Given the description of an element on the screen output the (x, y) to click on. 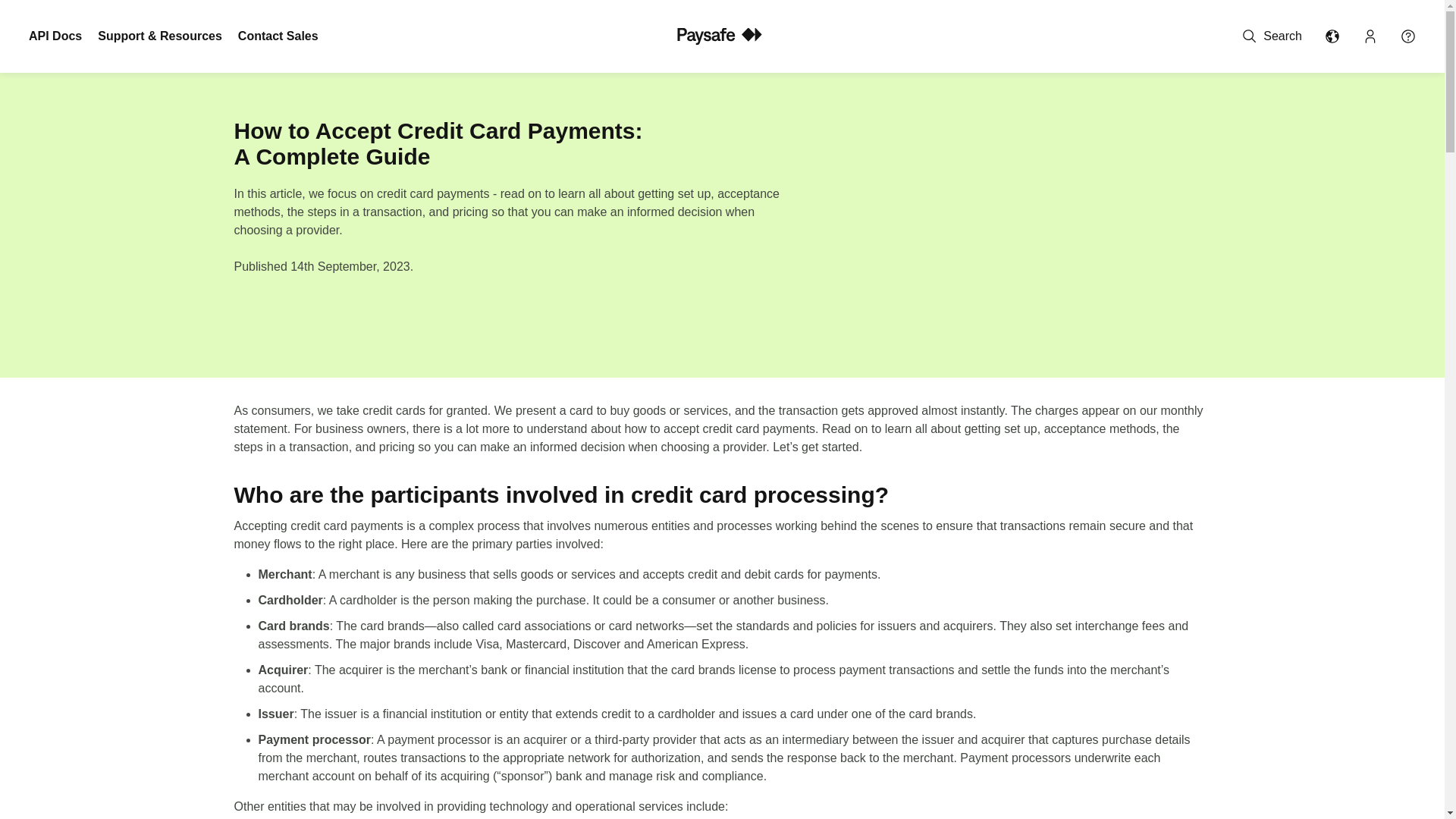
API Docs (55, 36)
Contact Sales (277, 36)
Search (1271, 35)
